Given the description of an element on the screen output the (x, y) to click on. 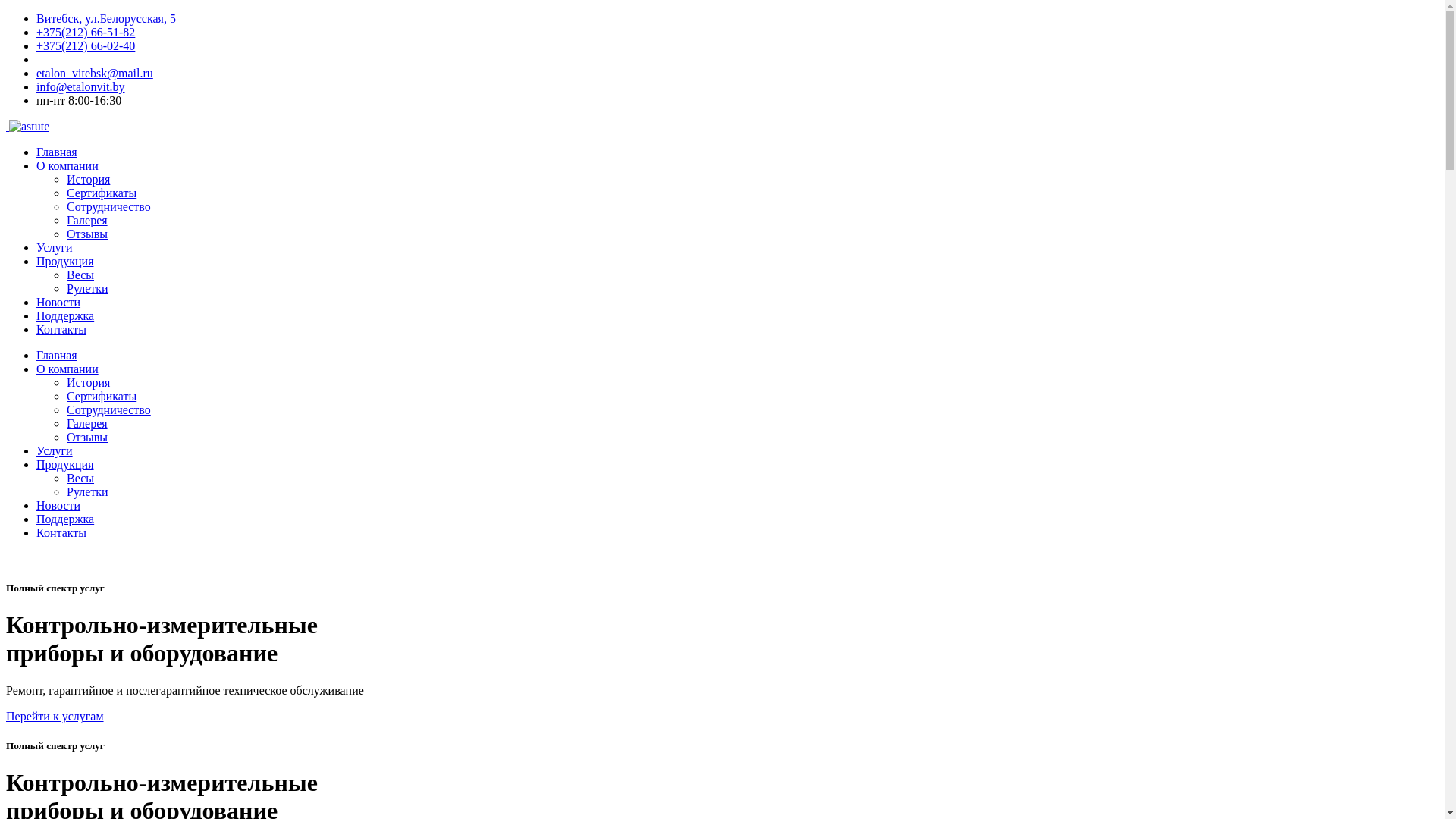
techno Element type: hover (29, 125)
etalon_vitebsk@mail.ru Element type: text (94, 72)
techno Element type: hover (7, 125)
info@etalonvit.by Element type: text (80, 86)
+375(212) 66-51-82 Element type: text (85, 31)
+375(212) 66-02-40 Element type: text (85, 45)
